Given the description of an element on the screen output the (x, y) to click on. 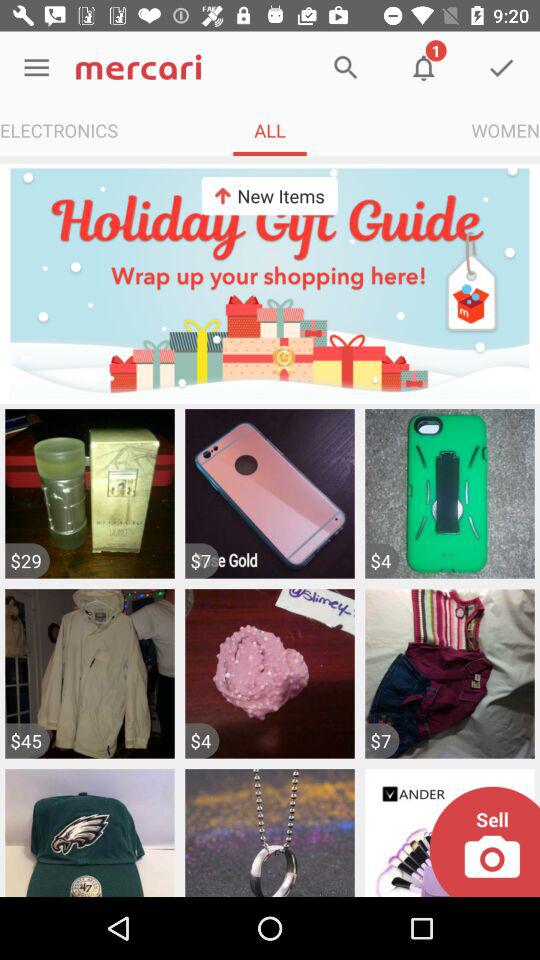
tap icon to the left of all icon (59, 130)
